Given the description of an element on the screen output the (x, y) to click on. 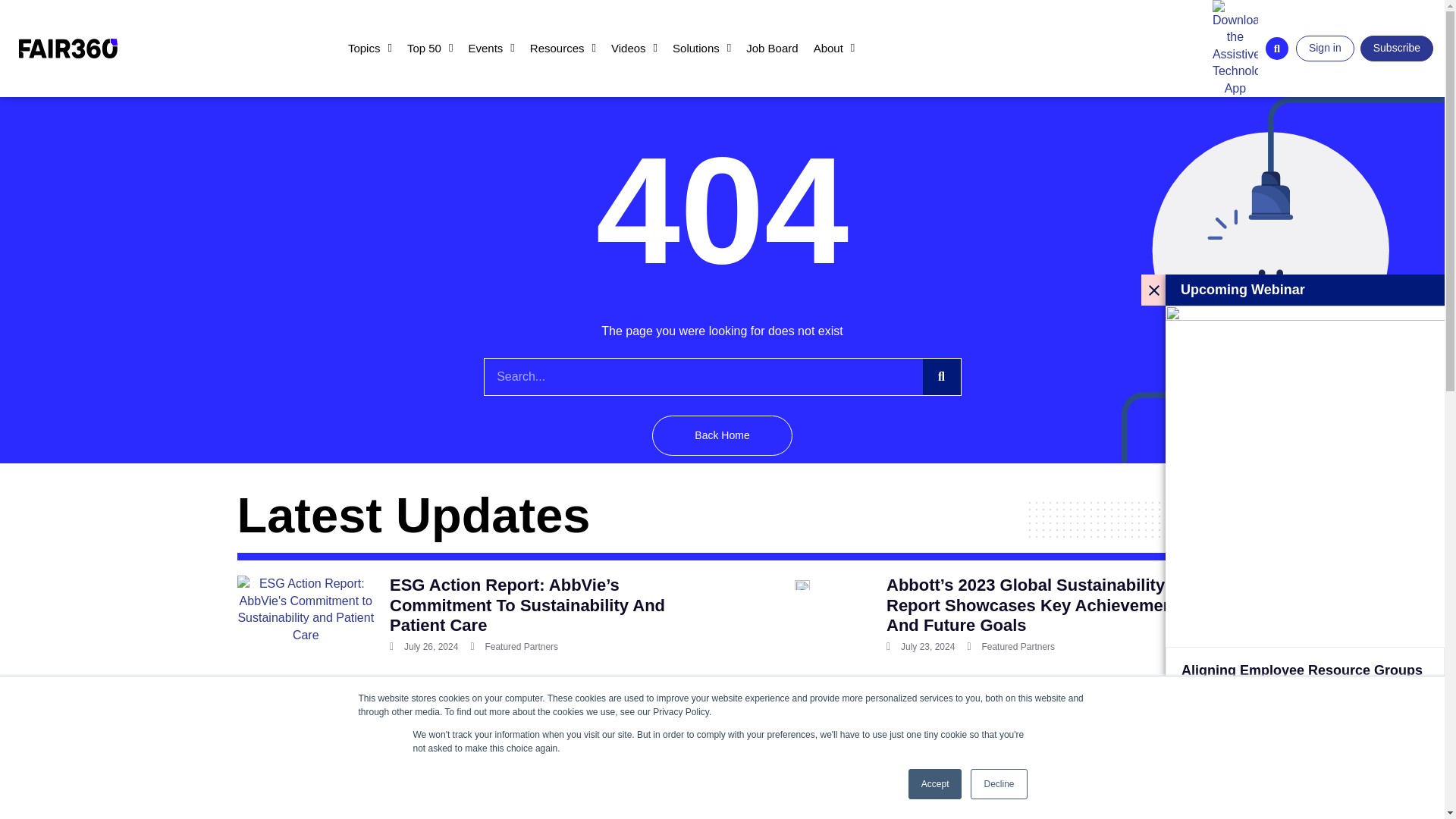
Topics (369, 48)
Events (490, 48)
Resources (563, 48)
Solutions (701, 48)
Top 50 (429, 48)
Videos (634, 48)
Accept (935, 784)
Decline (998, 784)
